Given the description of an element on the screen output the (x, y) to click on. 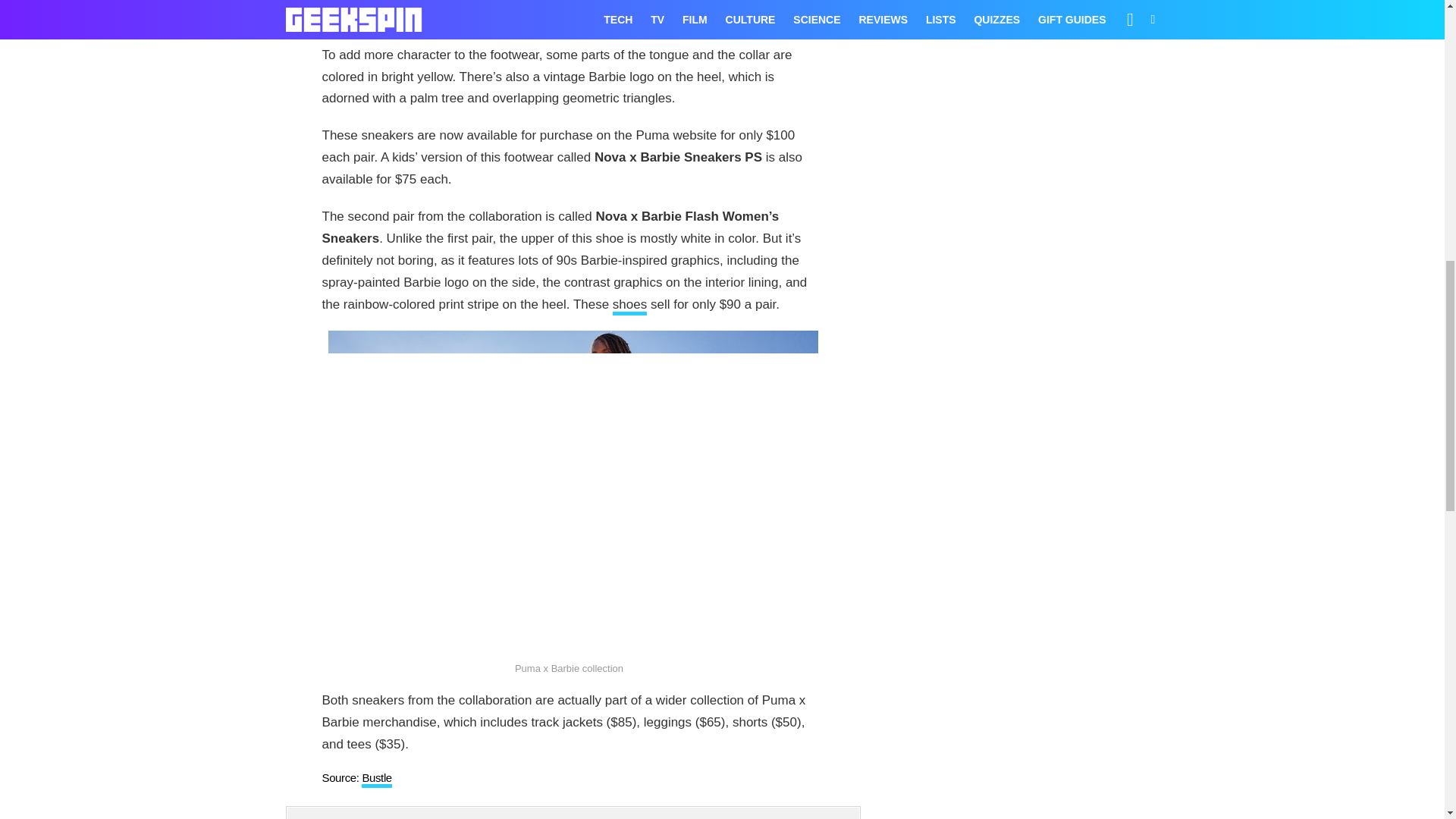
Bustle (376, 779)
shoes (629, 306)
shoes (629, 306)
